Given the description of an element on the screen output the (x, y) to click on. 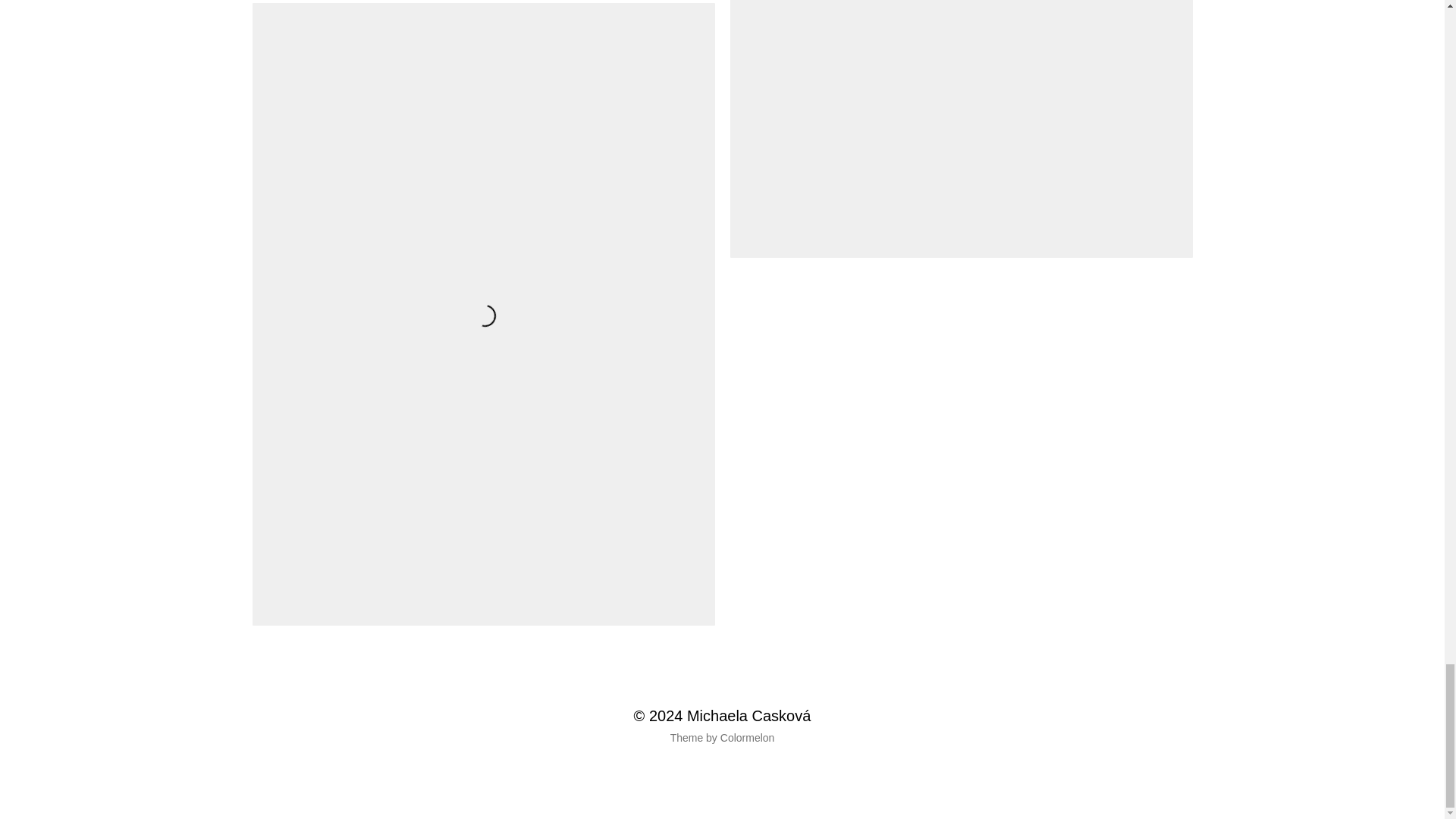
Colormelon (747, 738)
